Given the description of an element on the screen output the (x, y) to click on. 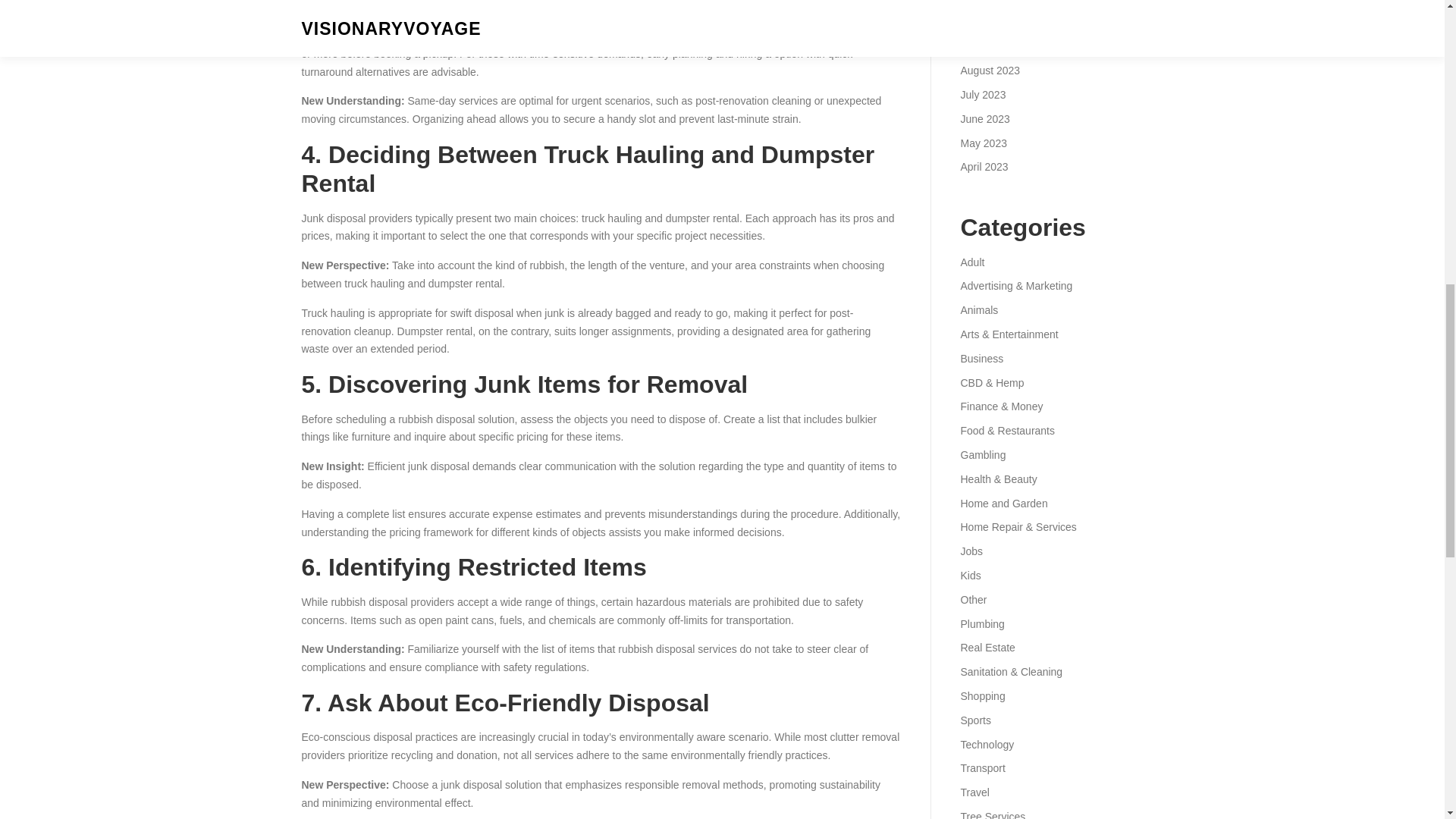
May 2023 (982, 143)
Adult (971, 262)
Business (981, 358)
Animals (978, 309)
October 2023 (992, 22)
July 2023 (982, 94)
April 2023 (983, 166)
September 2023 (999, 46)
August 2023 (989, 70)
Gambling (982, 454)
November 2023 (997, 2)
June 2023 (984, 119)
